Given the description of an element on the screen output the (x, y) to click on. 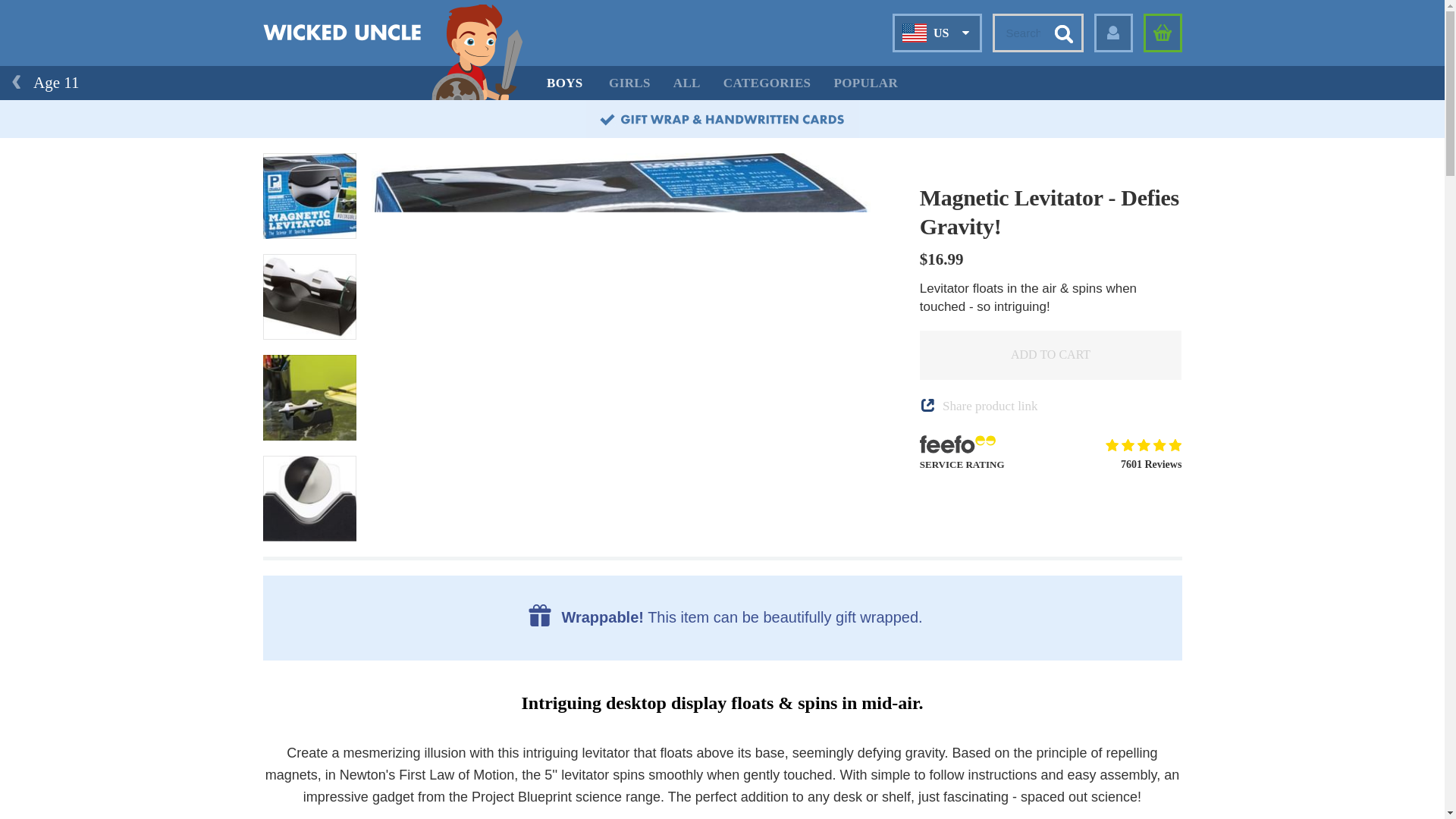
BOYS (564, 82)
GIRLS (629, 82)
UK (919, 66)
